Given the description of an element on the screen output the (x, y) to click on. 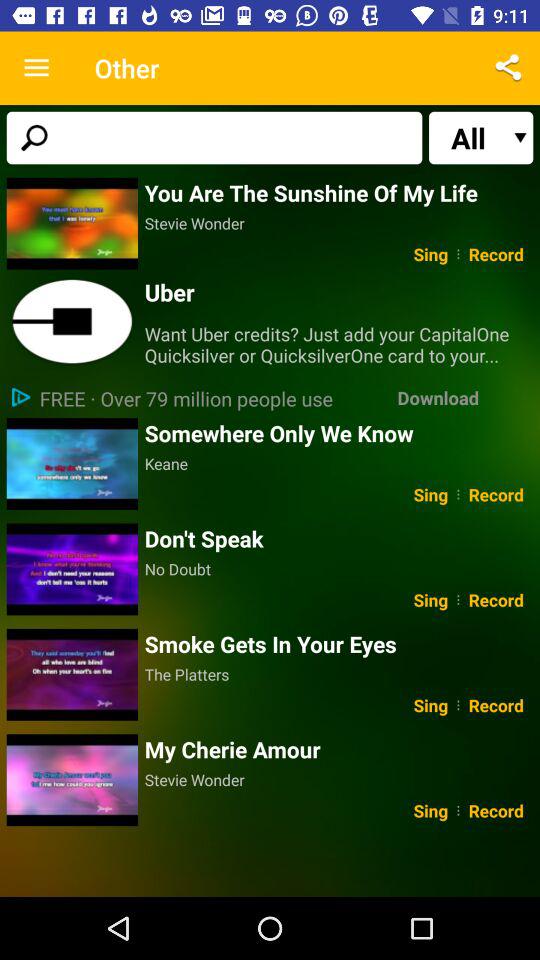
flip until free over 79 icon (185, 398)
